Given the description of an element on the screen output the (x, y) to click on. 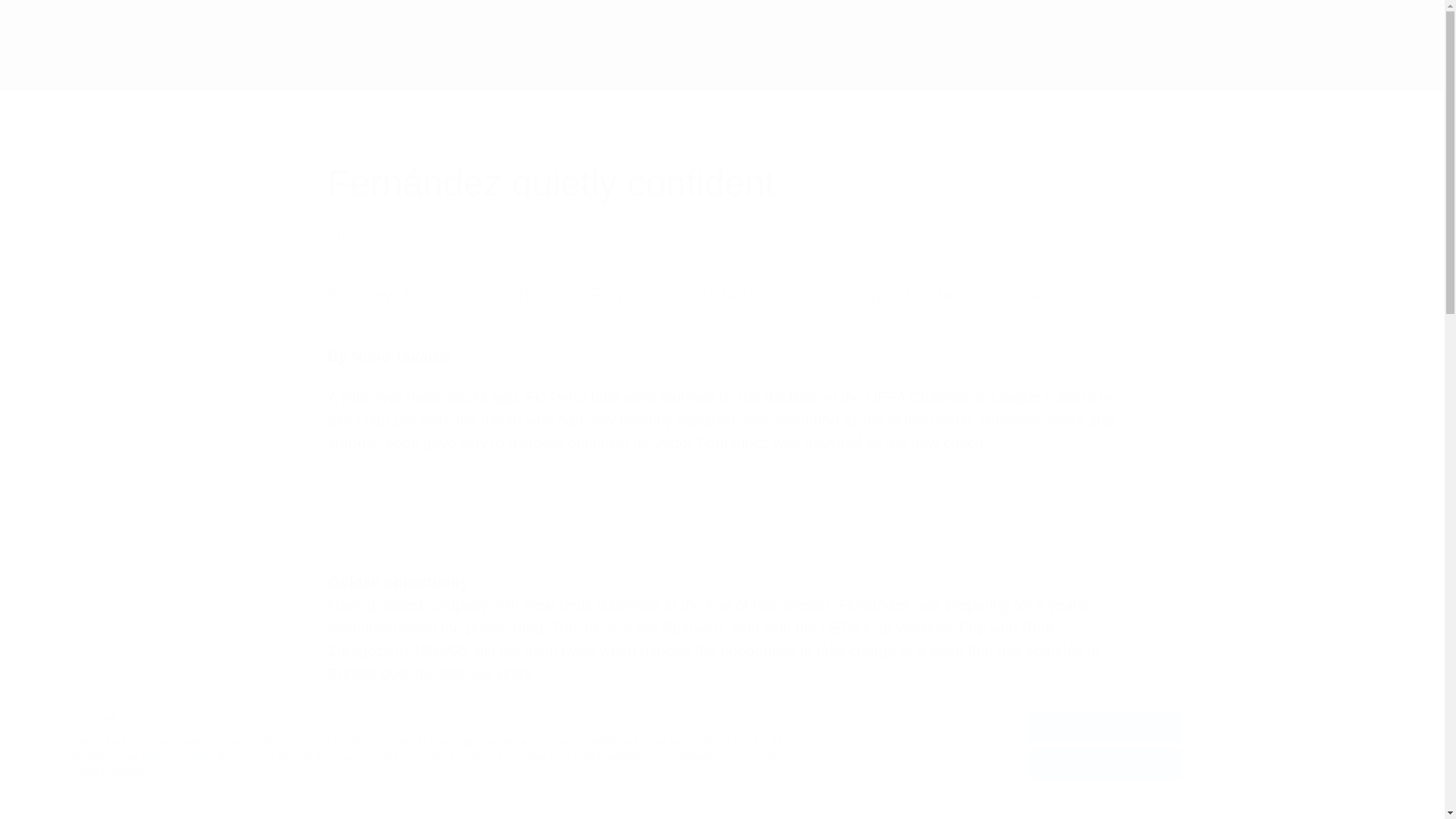
UEFA Super Cup (225, 60)
Accept all (1104, 726)
Cookie settings (1104, 798)
UEFA Super Cup (225, 60)
Reject all (1104, 764)
Cookie Policy (177, 756)
